Given the description of an element on the screen output the (x, y) to click on. 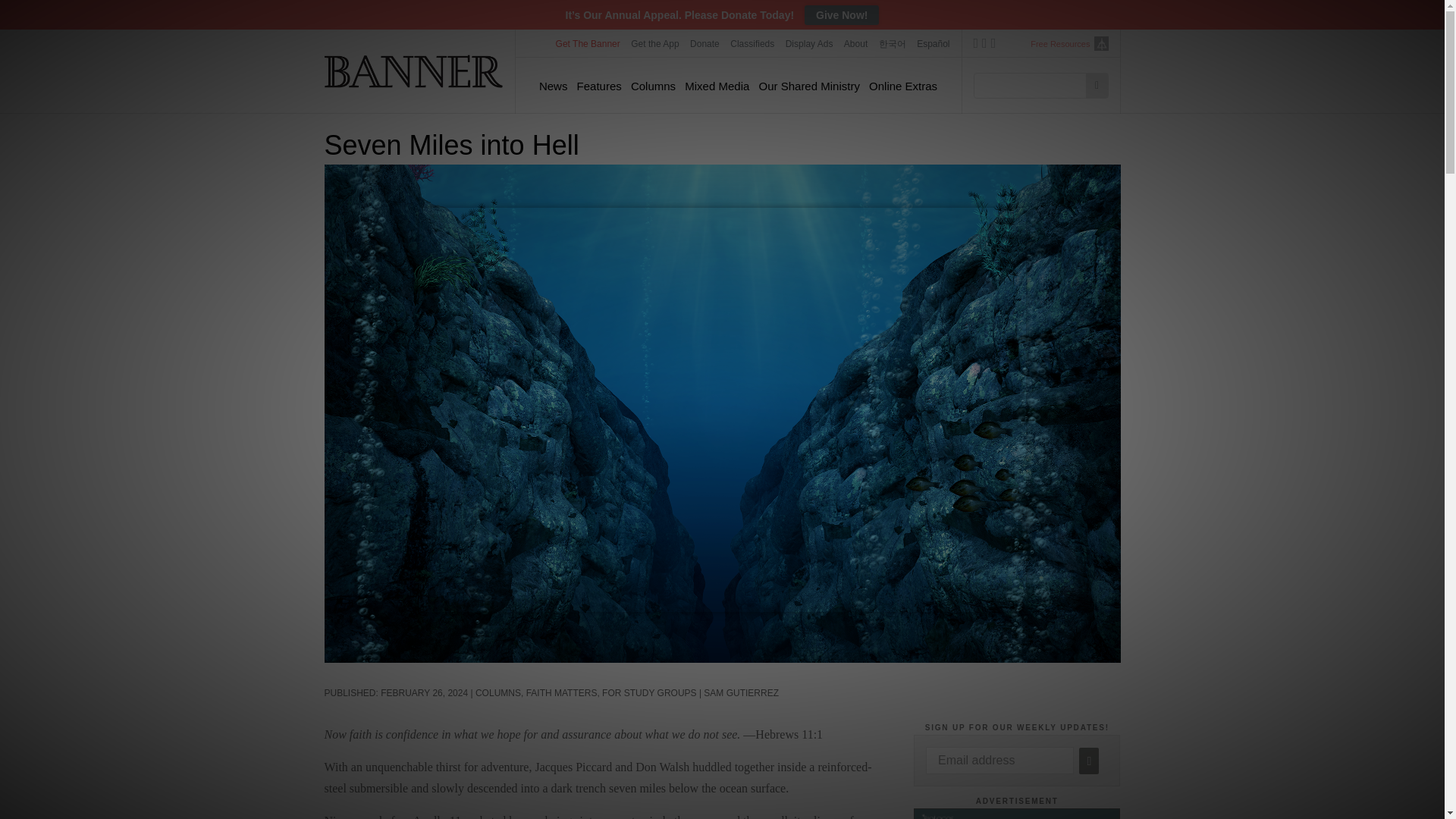
Enter the terms you wish to search for. (1035, 85)
Classifieds (751, 43)
crcna.org (1100, 43)
Free Resources (1059, 44)
COLUMNS, (500, 692)
Features (598, 85)
Mixed Media (716, 85)
FOR STUDY GROUPS (648, 692)
News (552, 85)
About (855, 43)
Online Extras (903, 85)
Search (1097, 85)
FAITH MATTERS, (563, 692)
Display Ads (809, 43)
